Given the description of an element on the screen output the (x, y) to click on. 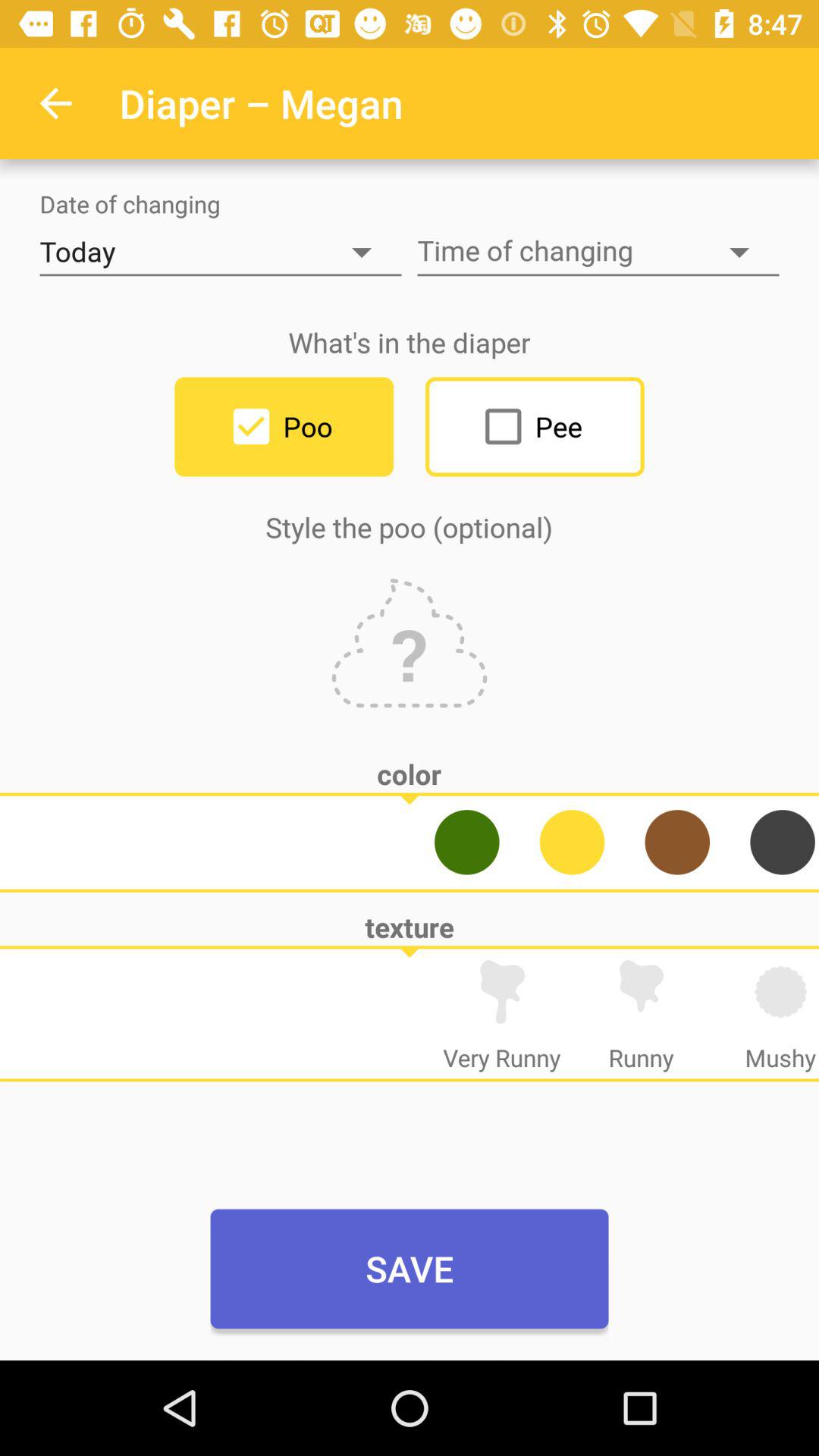
select the color (677, 842)
